Given the description of an element on the screen output the (x, y) to click on. 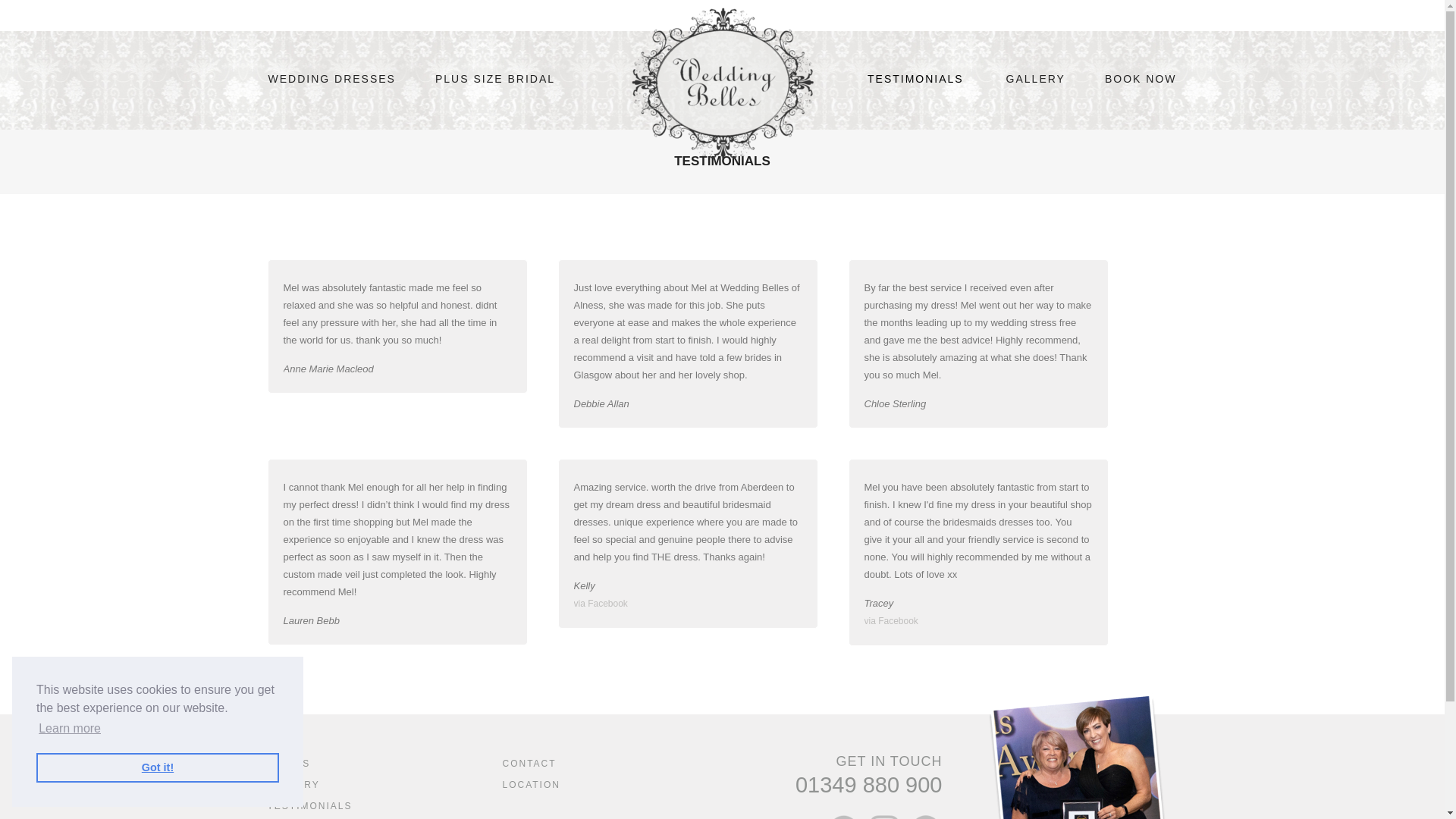
Got it! (157, 767)
CONTACT (529, 763)
Learn more (69, 728)
BOOK NOW (1140, 79)
LOCATION (530, 784)
GALLERY (292, 784)
TESTIMONIALS (914, 79)
GALLERY (1035, 79)
PLUS SIZE BRIDAL (494, 79)
BRIDES (288, 763)
TESTIMONIALS (309, 805)
WEDDING DRESSES (331, 79)
